Given the description of an element on the screen output the (x, y) to click on. 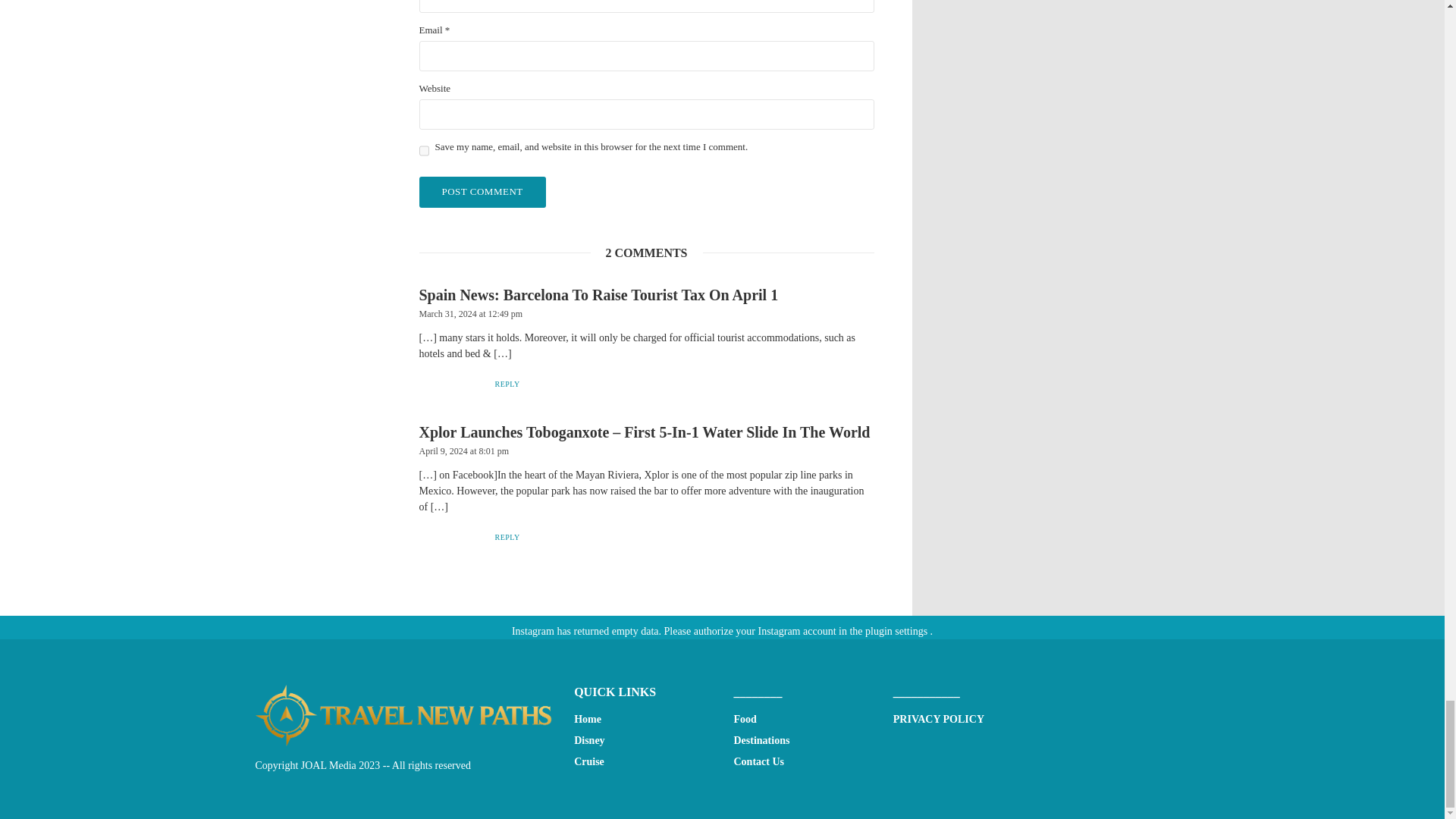
Post Comment (481, 192)
